Given the description of an element on the screen output the (x, y) to click on. 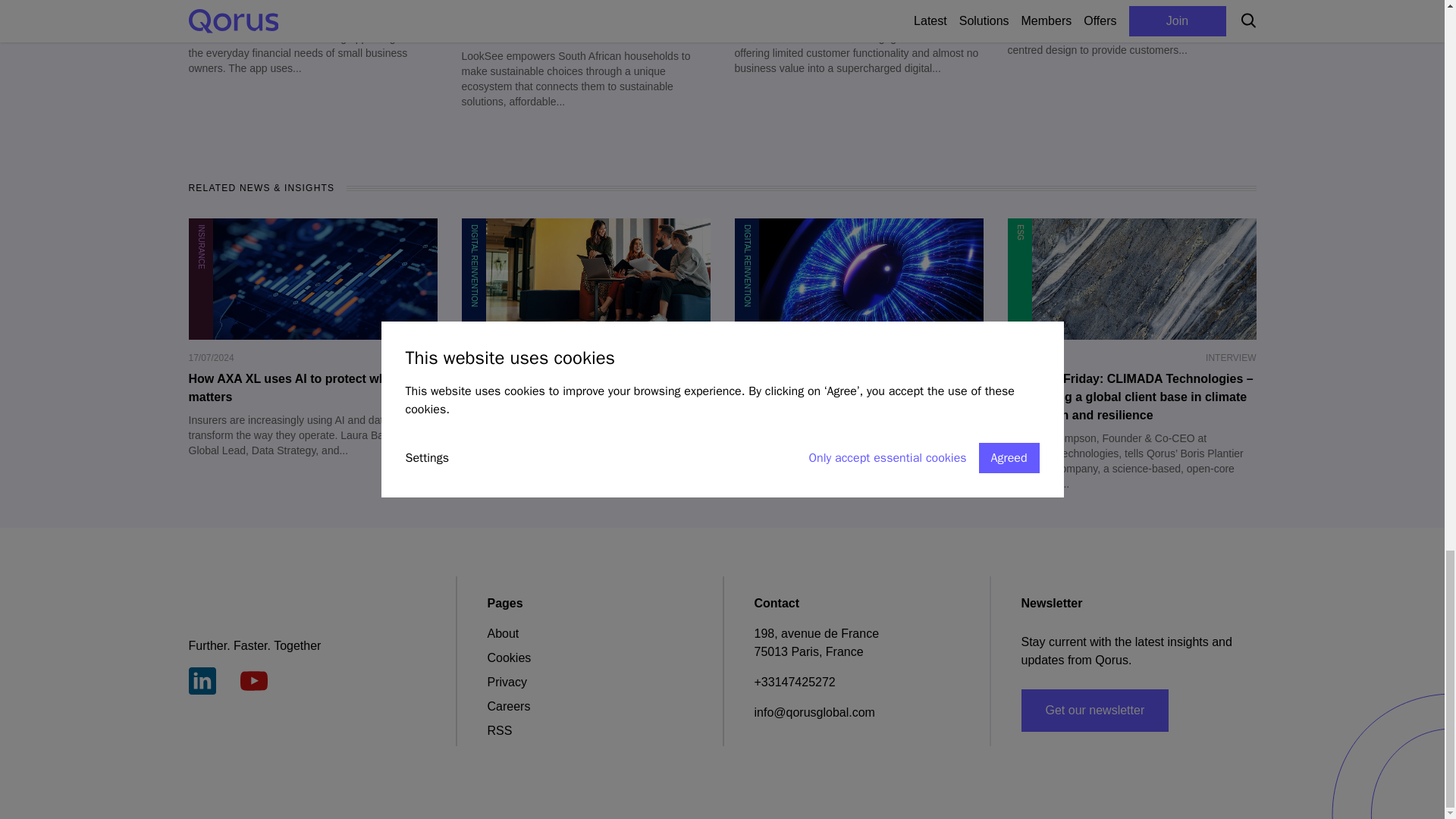
HSBC Kinetic Mobile Banking App for SMEs (311, 12)
How AXA XL uses AI to protect what matters (311, 388)
About (502, 633)
Cookies (508, 657)
Credit Score Feature (1131, 2)
